Given the description of an element on the screen output the (x, y) to click on. 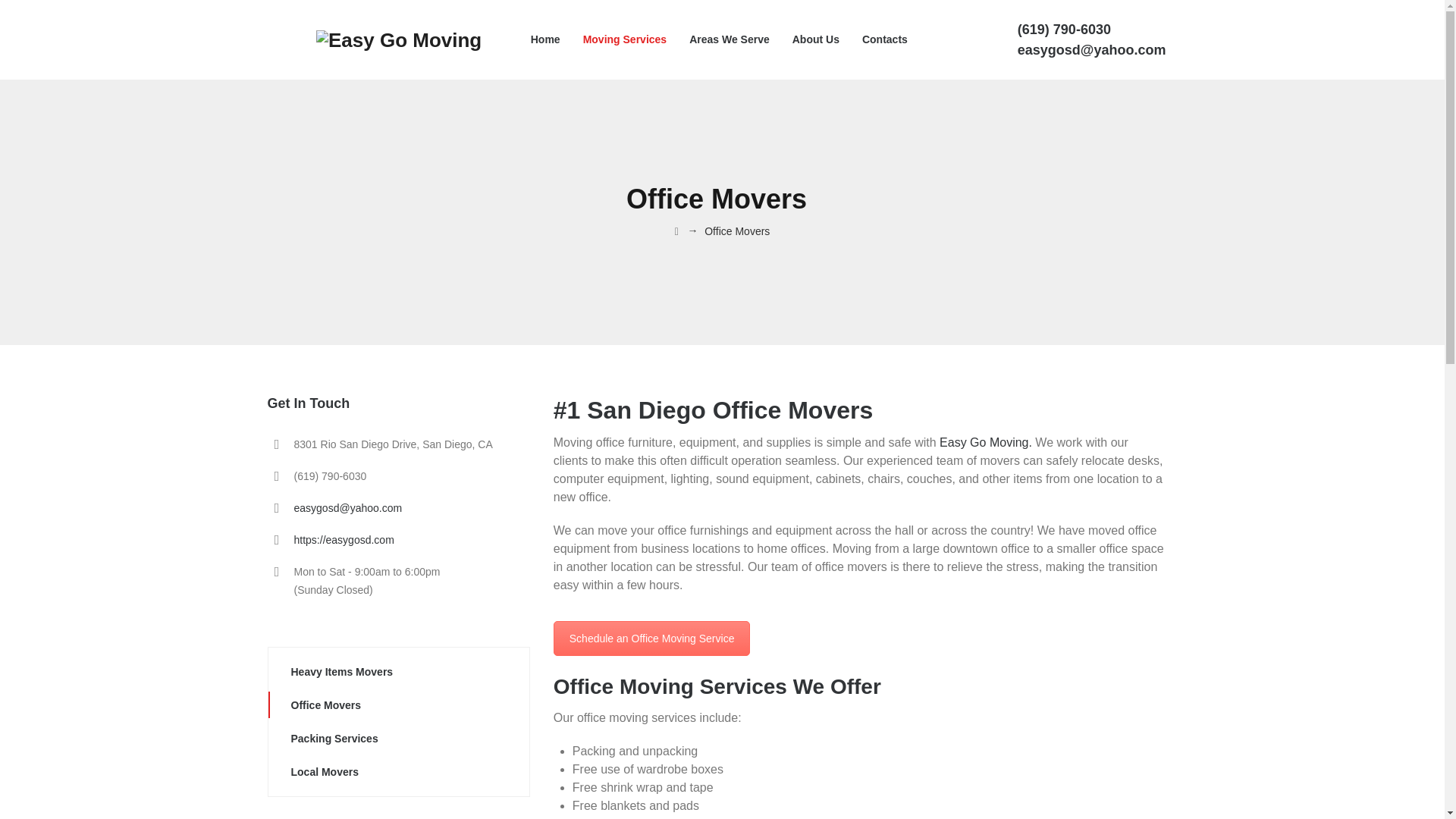
Schedule an Office Moving Service (652, 638)
Easy Go Moving (398, 39)
Contacts (652, 638)
Areas We Serve (729, 39)
Moving Services (624, 39)
Easy Go Moving. (985, 441)
